Given the description of an element on the screen output the (x, y) to click on. 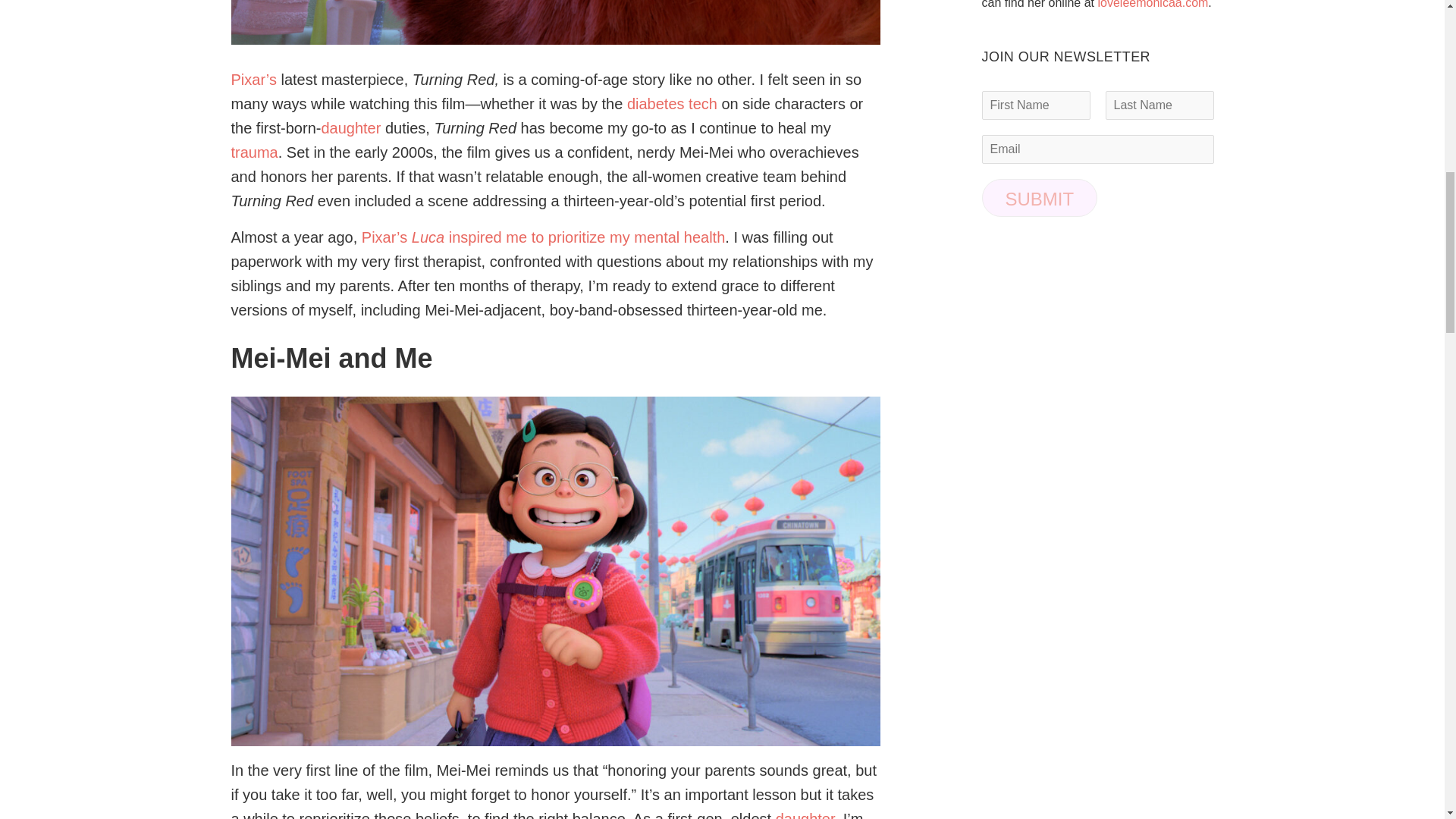
diabetes tech (672, 103)
trauma (254, 152)
daughter (805, 814)
daughter (350, 127)
